Given the description of an element on the screen output the (x, y) to click on. 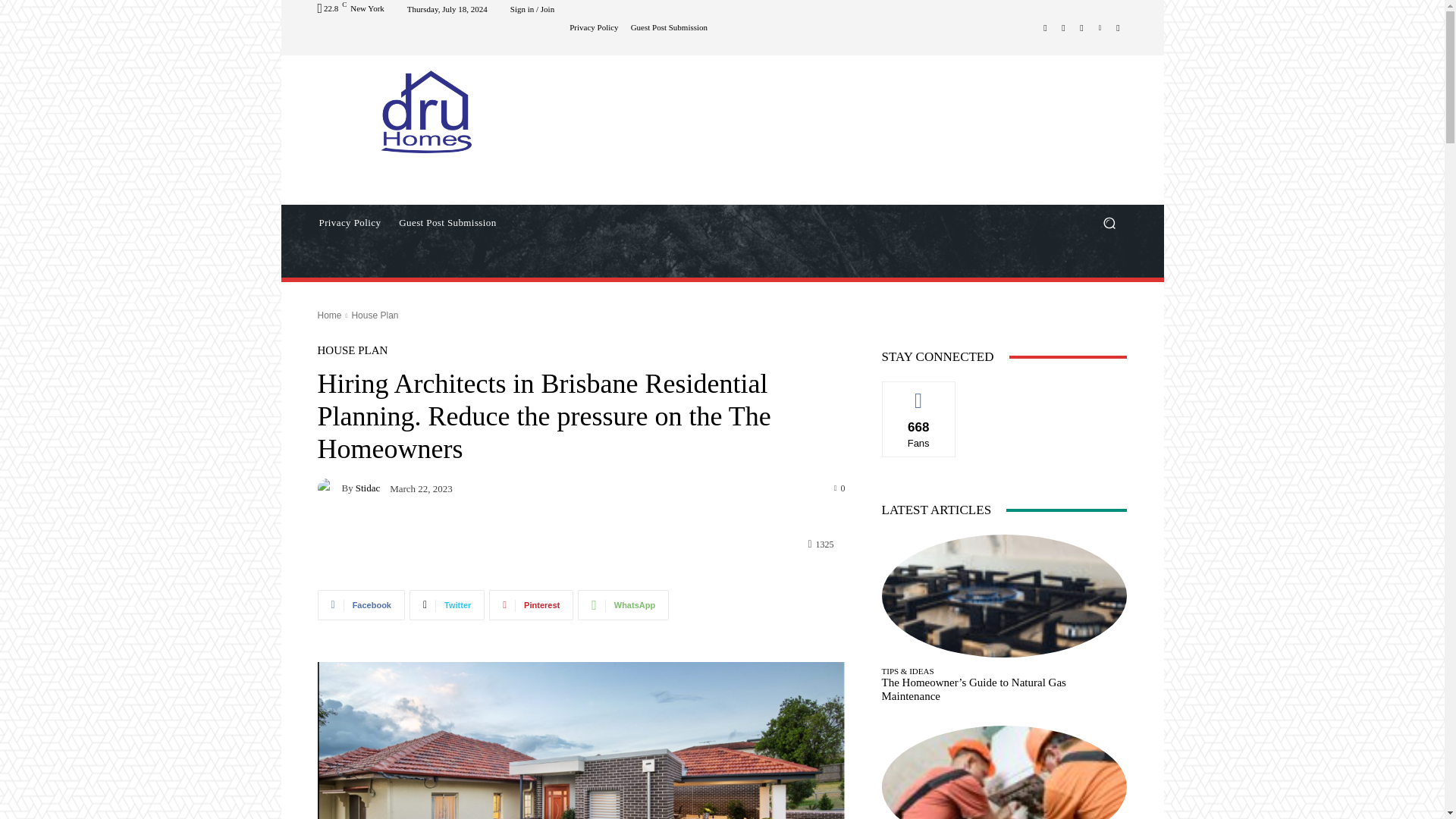
0 (839, 487)
Facebook (1044, 27)
HOUSE PLAN (352, 350)
Privacy Policy (593, 27)
View all posts in House Plan (373, 315)
Twitter (446, 604)
Youtube (1117, 27)
WhatsApp (623, 604)
Stidac (367, 488)
Vimeo (1099, 27)
Guest Post Submission (447, 222)
Facebook (360, 604)
Privacy Policy (349, 222)
Home (328, 315)
Instagram (1062, 27)
